Given the description of an element on the screen output the (x, y) to click on. 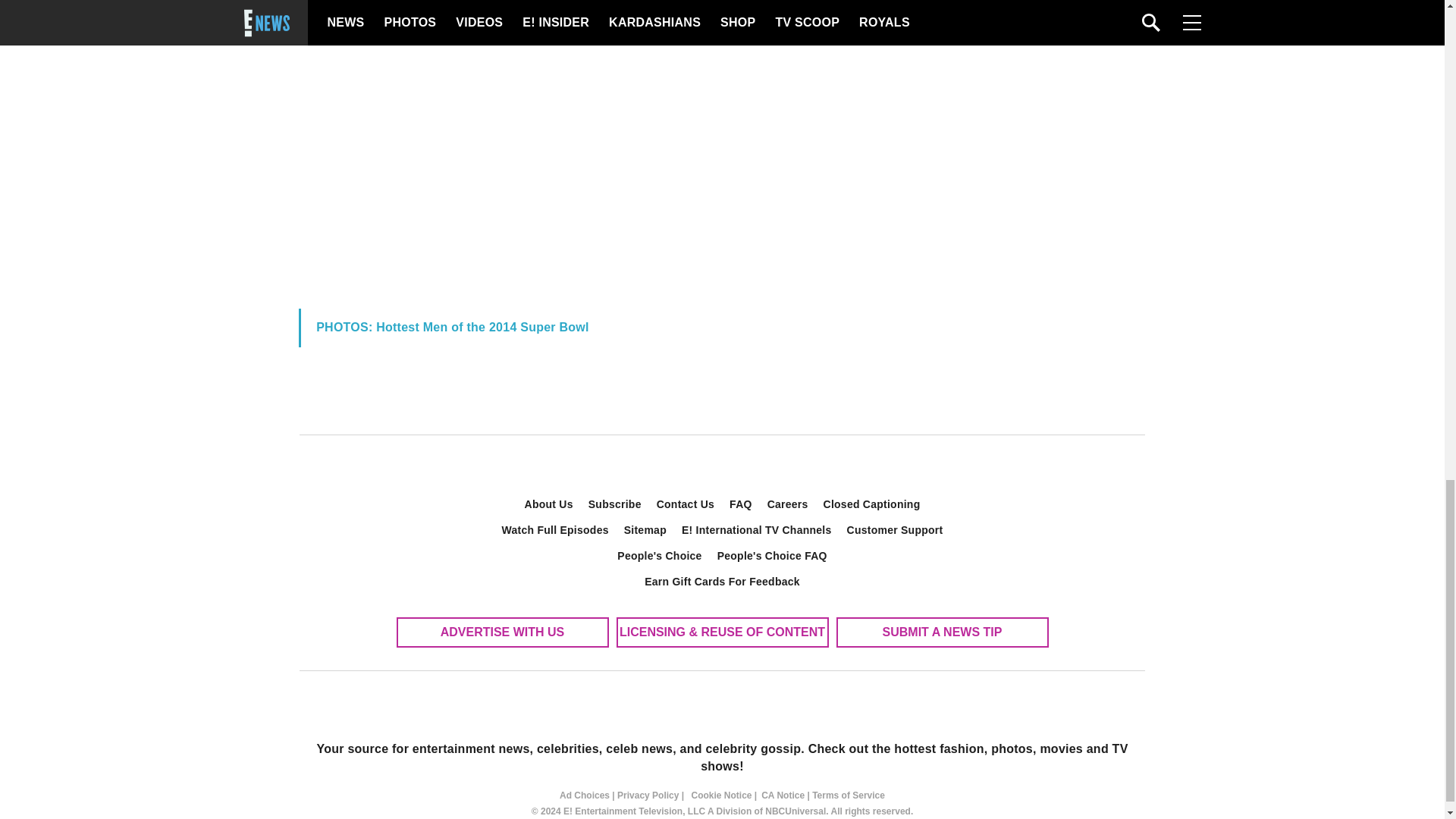
E! International TV Channels (757, 529)
PHOTOS: Hottest Men of the 2014 Super Bowl (452, 327)
Closed Captioning (871, 503)
Subscribe (614, 503)
Contact Us (685, 503)
About Us (548, 503)
Careers (787, 503)
Watch Full Episodes (555, 529)
Sitemap (644, 529)
FAQ (741, 503)
